Given the description of an element on the screen output the (x, y) to click on. 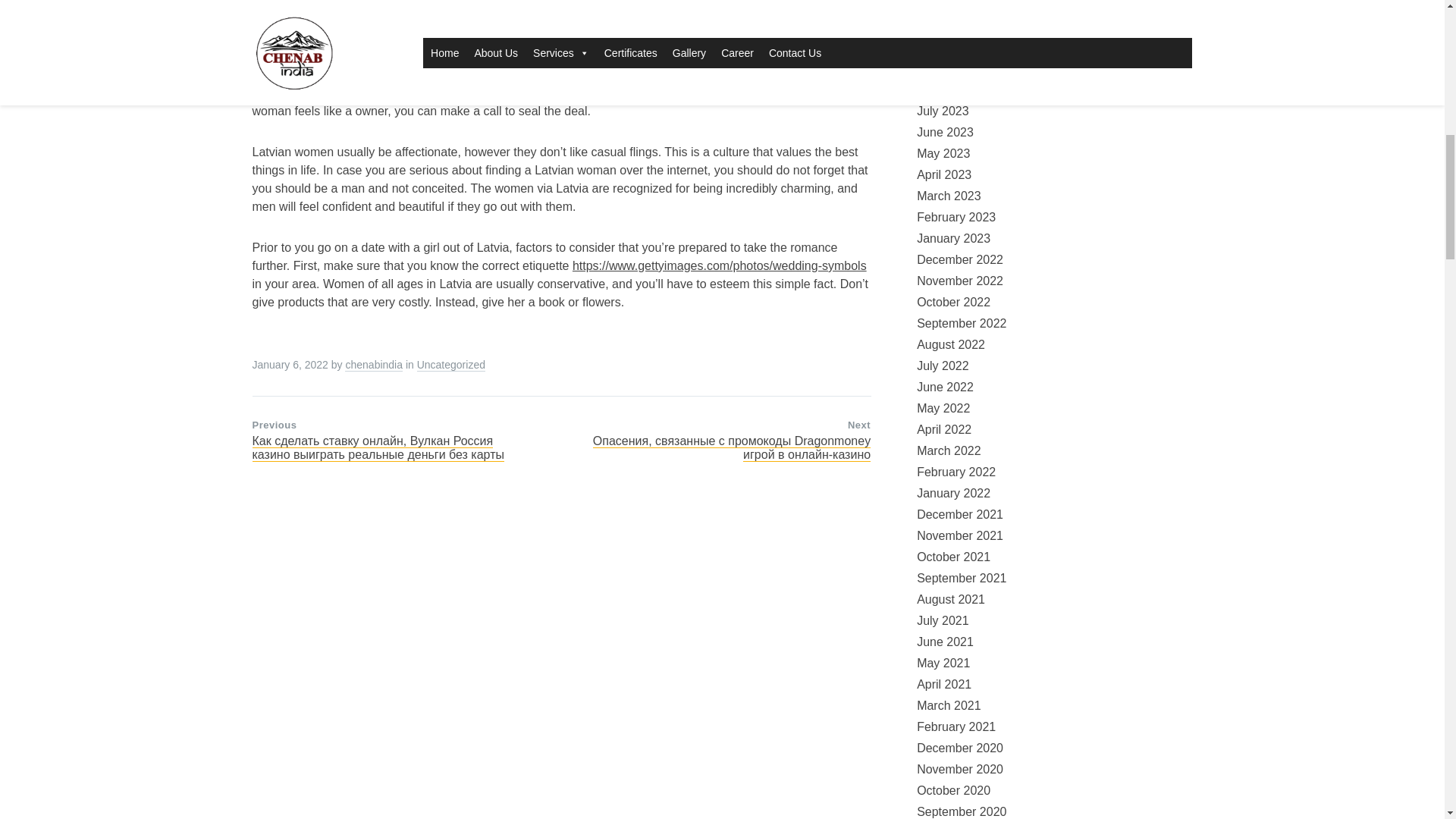
Previous (274, 424)
Uncategorized (450, 364)
Next (858, 424)
chenabindia (374, 364)
